Given the description of an element on the screen output the (x, y) to click on. 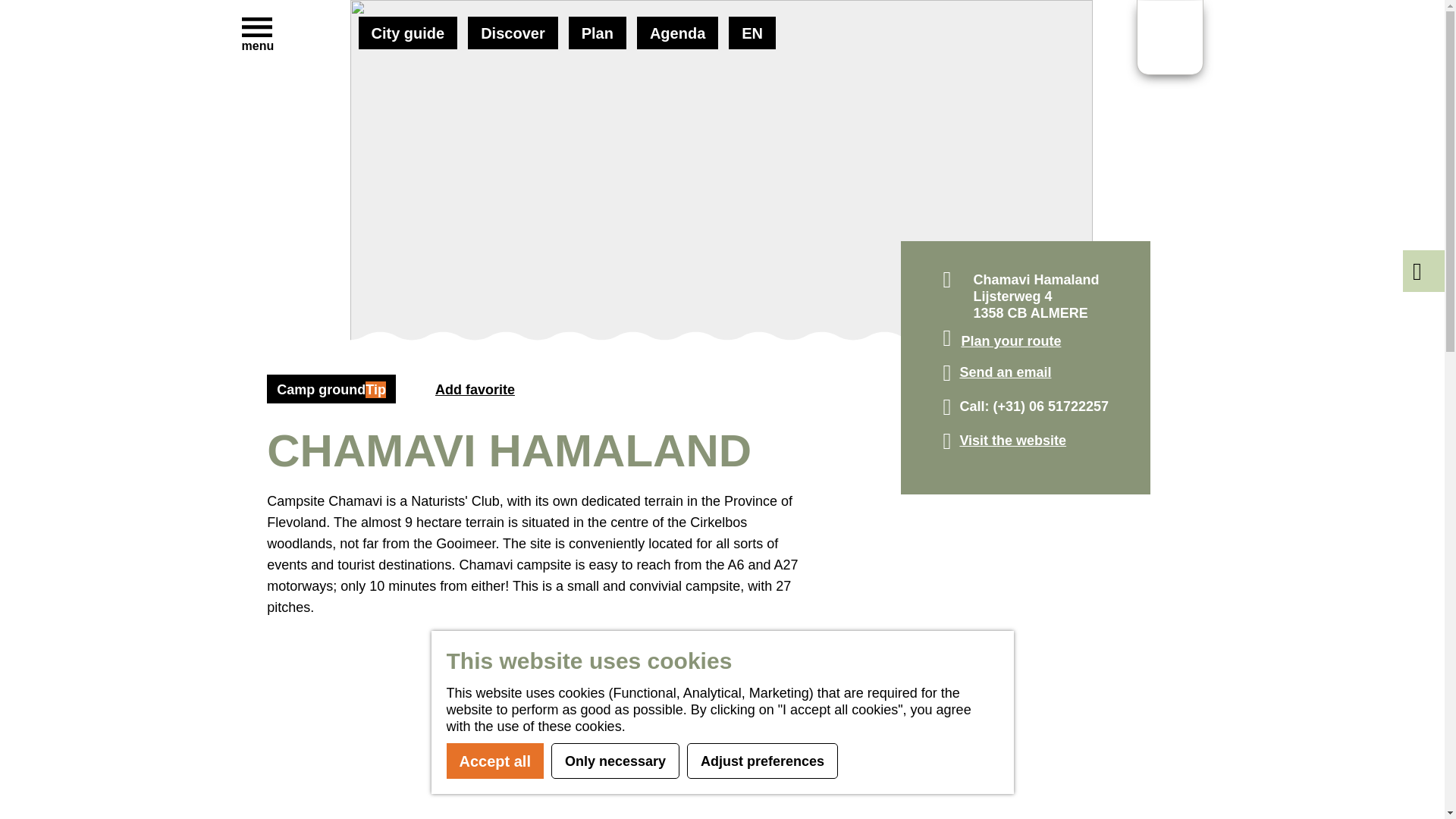
Menu (255, 28)
Only necessary (615, 760)
Accept all (494, 760)
Add favorite (419, 394)
Adjust preferences (762, 760)
